Given the description of an element on the screen output the (x, y) to click on. 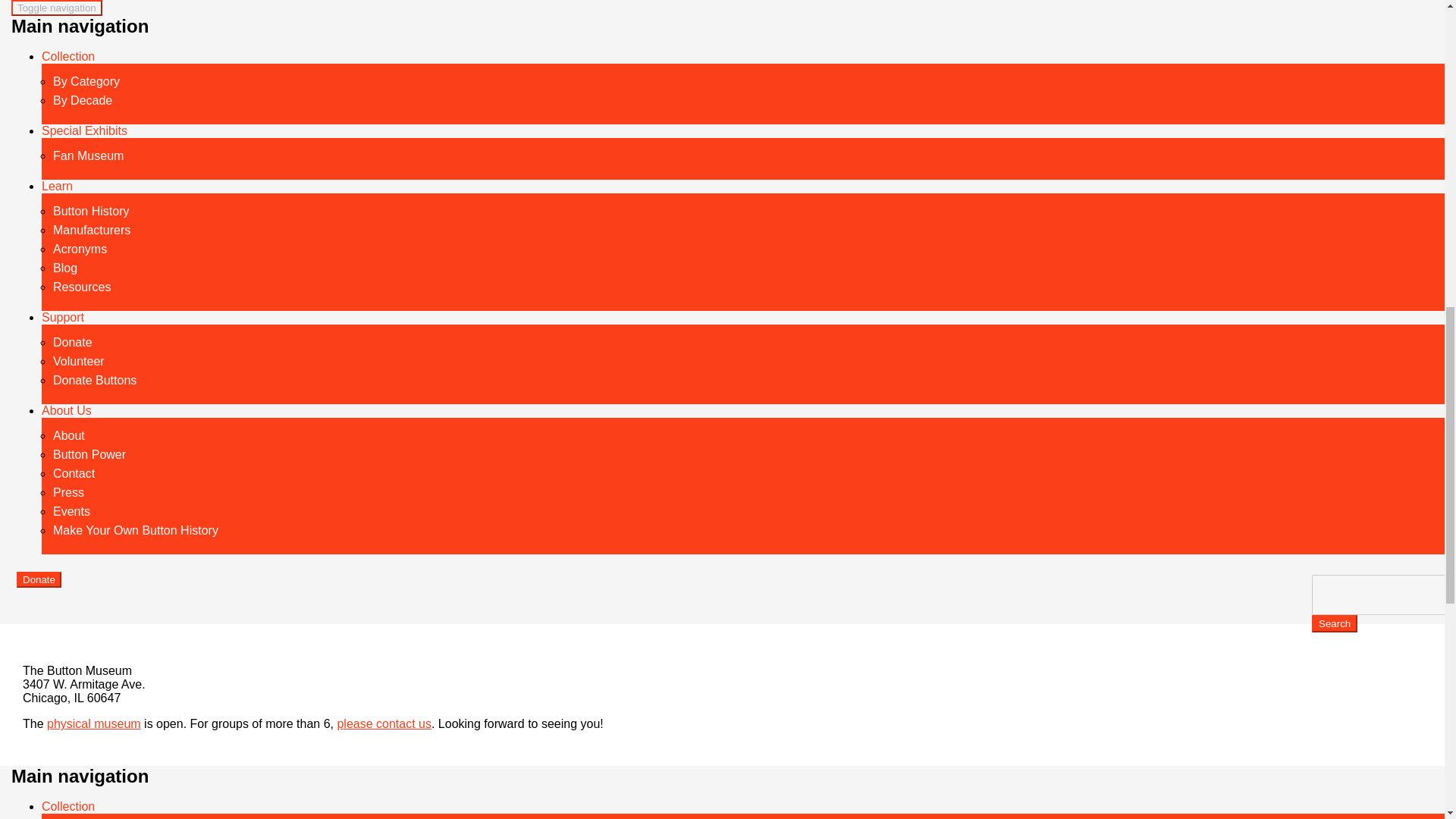
Circle (218, 296)
Illustrations (236, 120)
Event (218, 58)
Kings Island Rainbow (204, 41)
Collection (68, 806)
physical museum (93, 723)
Locking pin (236, 266)
please contact us (383, 723)
Kings Island Rainbow back (399, 90)
